Given the description of an element on the screen output the (x, y) to click on. 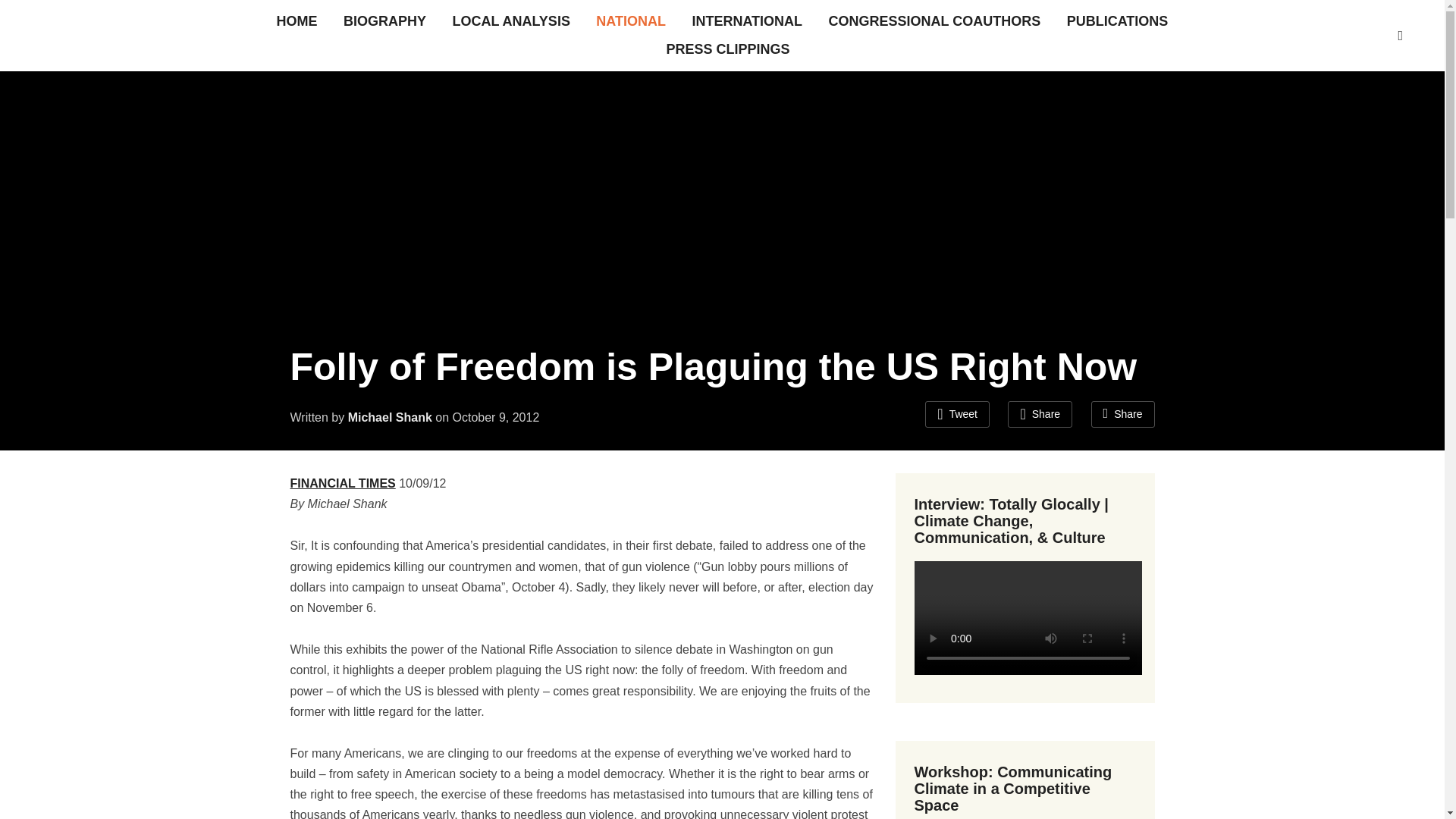
Tweet this on Twitter (957, 414)
Share (1039, 414)
Share (1122, 414)
Posts by Michael Shank (389, 417)
LOCAL ANALYSIS (511, 21)
BIOGRAPHY (384, 21)
PUBLICATIONS (1118, 21)
Search (1400, 35)
Share this on Facebook (1039, 414)
FINANCIAL TIMES (341, 482)
